Given the description of an element on the screen output the (x, y) to click on. 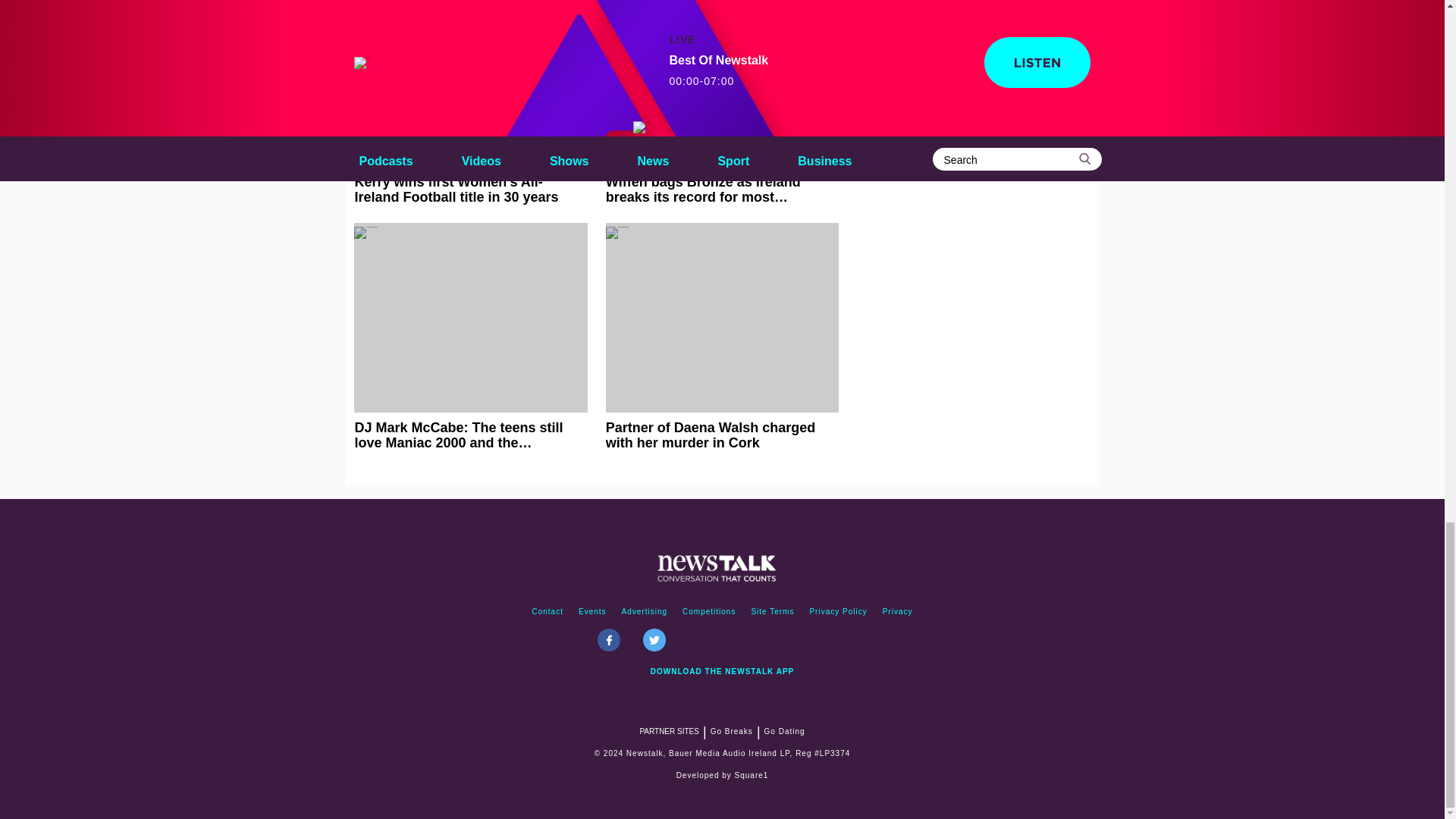
contact (547, 611)
Privacy Policy (838, 611)
Privacy (897, 611)
site terms (772, 611)
competitions (708, 611)
events (592, 611)
advertising (644, 611)
Partner of Daena Walsh charged with her murder in Cork  (721, 336)
